Given the description of an element on the screen output the (x, y) to click on. 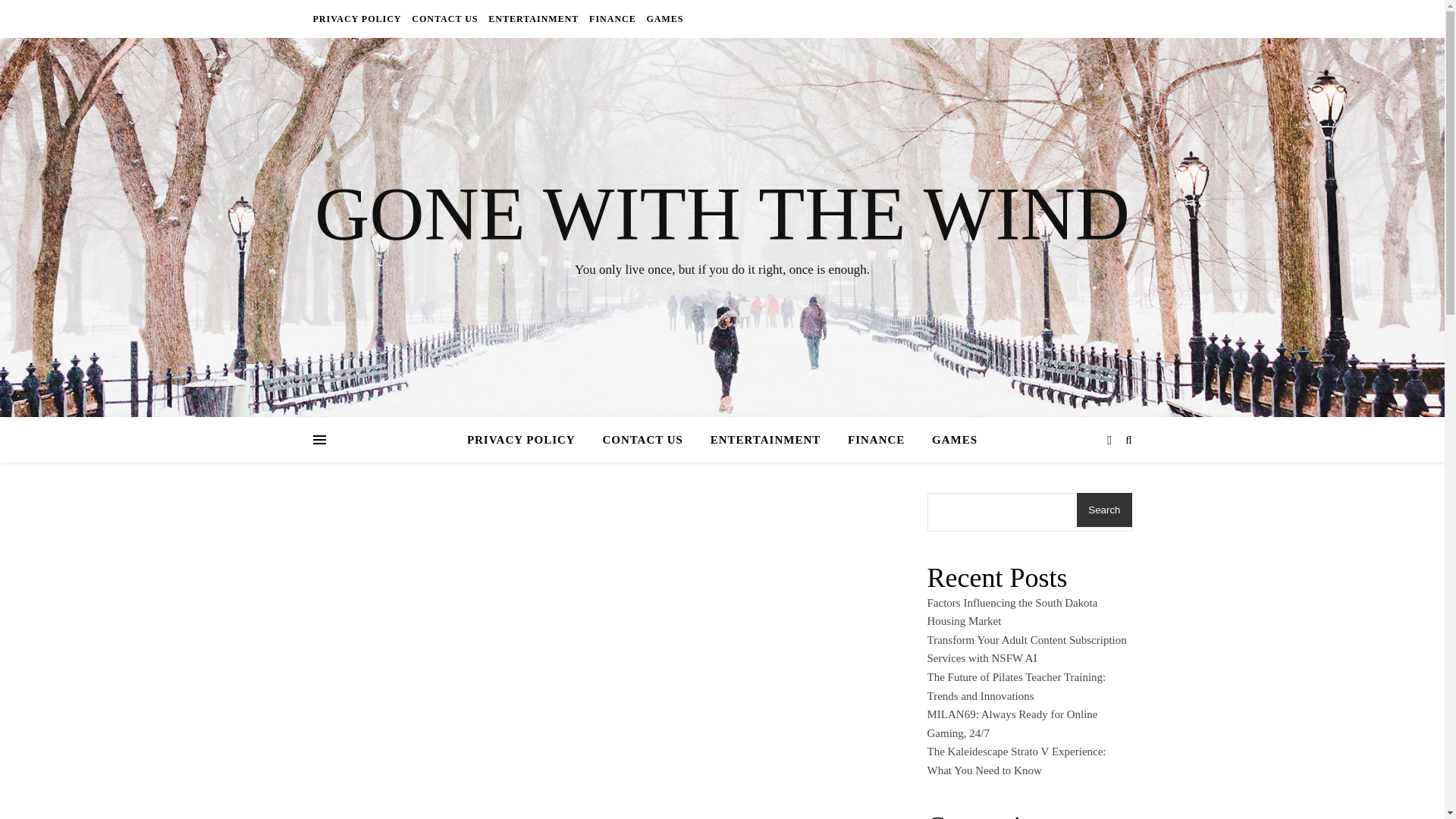
CONTACT US (444, 18)
PRIVACY POLICY (527, 439)
Factors Influencing the South Dakota Housing Market (1011, 612)
GAMES (662, 18)
FINANCE (612, 18)
PRIVACY POLICY (358, 18)
GAMES (948, 439)
ENTERTAINMENT (533, 18)
ENTERTAINMENT (765, 439)
Search (1104, 510)
FINANCE (876, 439)
The Kaleidescape Strato V Experience: What You Need to Know (1015, 760)
CONTACT US (642, 439)
